Given the description of an element on the screen output the (x, y) to click on. 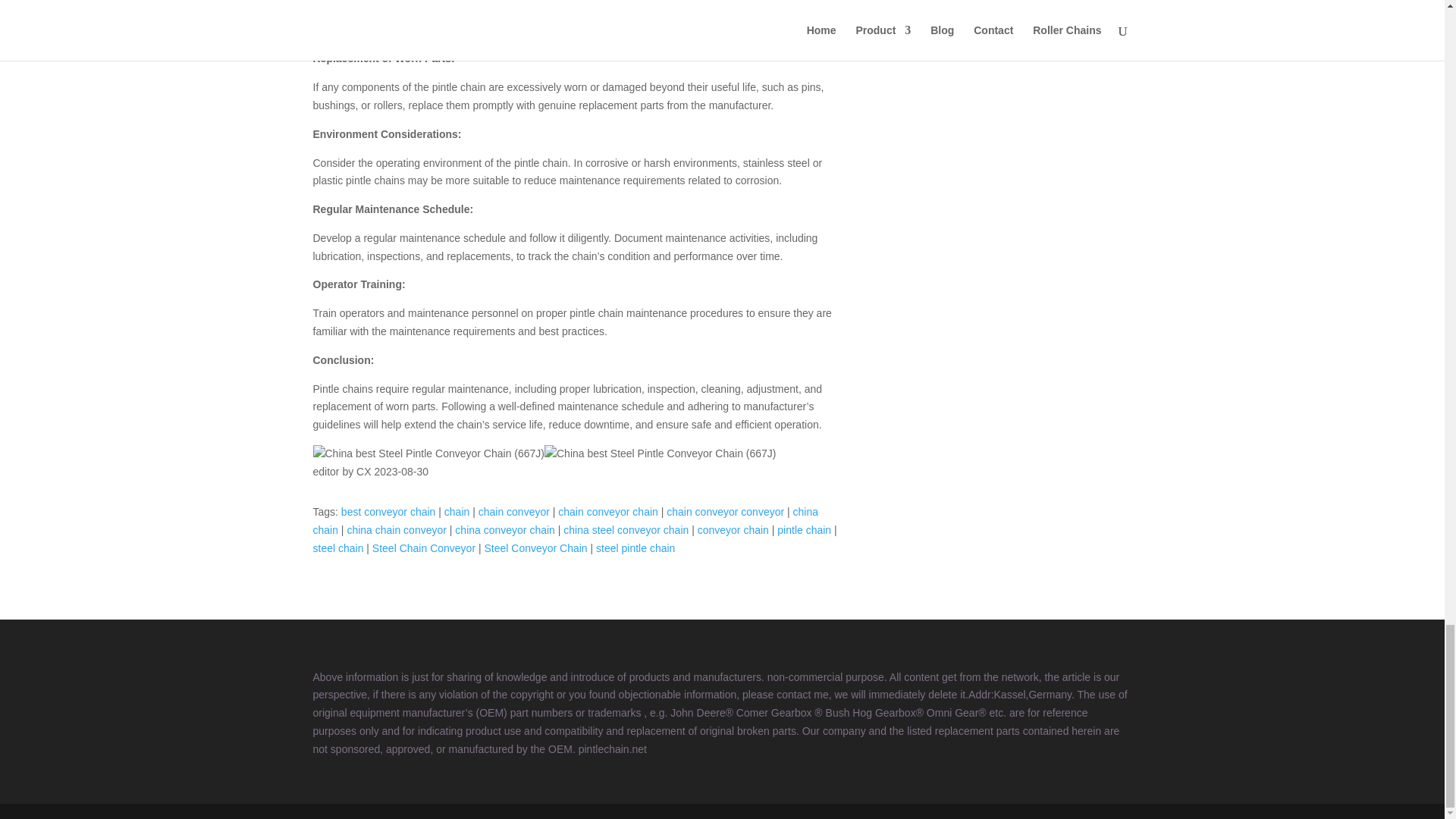
steel chain (337, 548)
chain conveyor chain (607, 511)
china conveyor chain (504, 530)
china chain (565, 521)
china steel conveyor chain (625, 530)
chain (456, 511)
Steel Chain Conveyor (424, 548)
best conveyor chain (387, 511)
Steel Conveyor Chain (534, 548)
pintle chain (804, 530)
steel pintle chain (635, 548)
china chain conveyor (396, 530)
chain conveyor conveyor (725, 511)
conveyor chain (732, 530)
chain conveyor (514, 511)
